Given the description of an element on the screen output the (x, y) to click on. 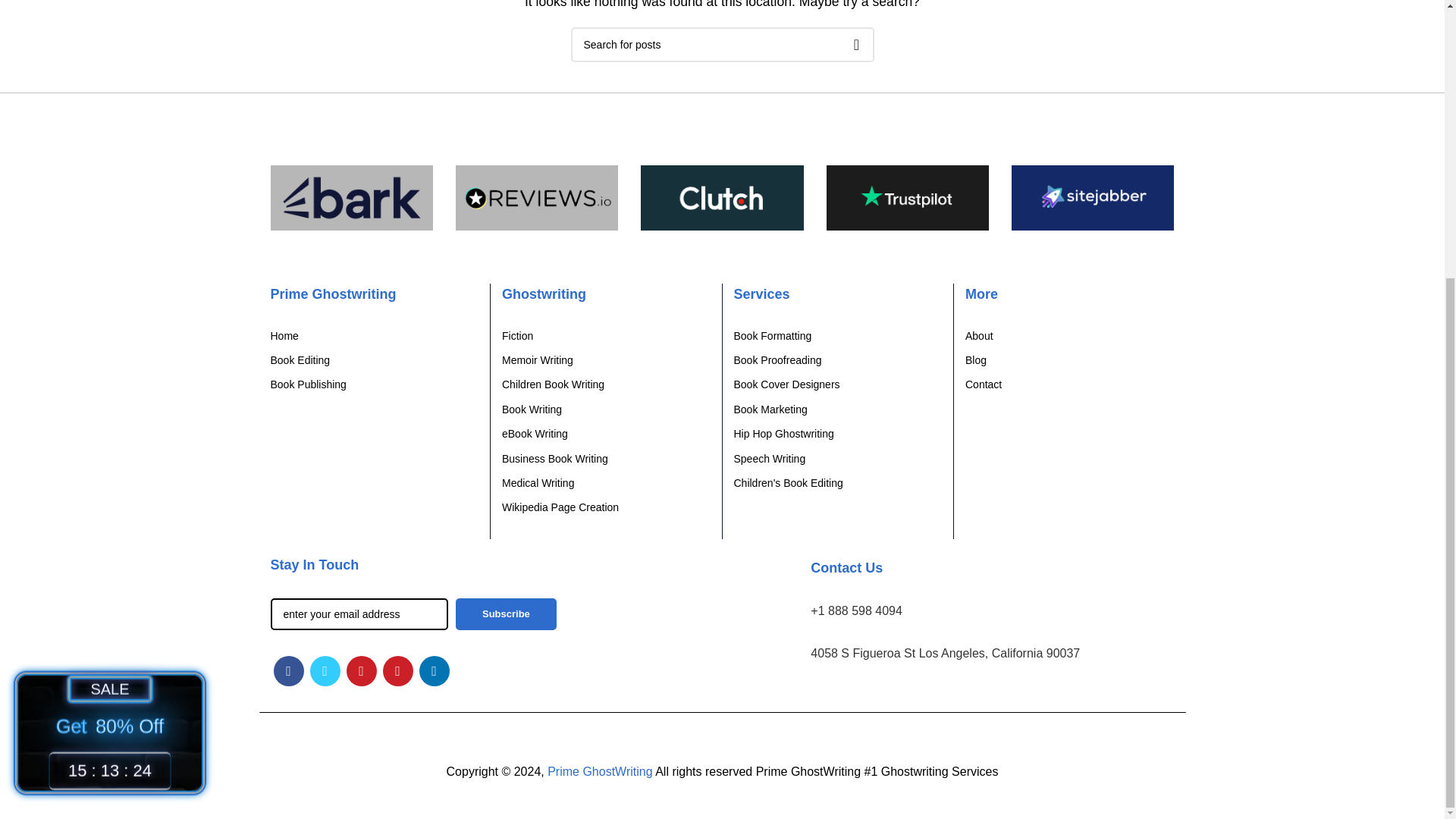
SEARCH (855, 44)
Search for posts (721, 44)
Subscribe (505, 613)
